Given the description of an element on the screen output the (x, y) to click on. 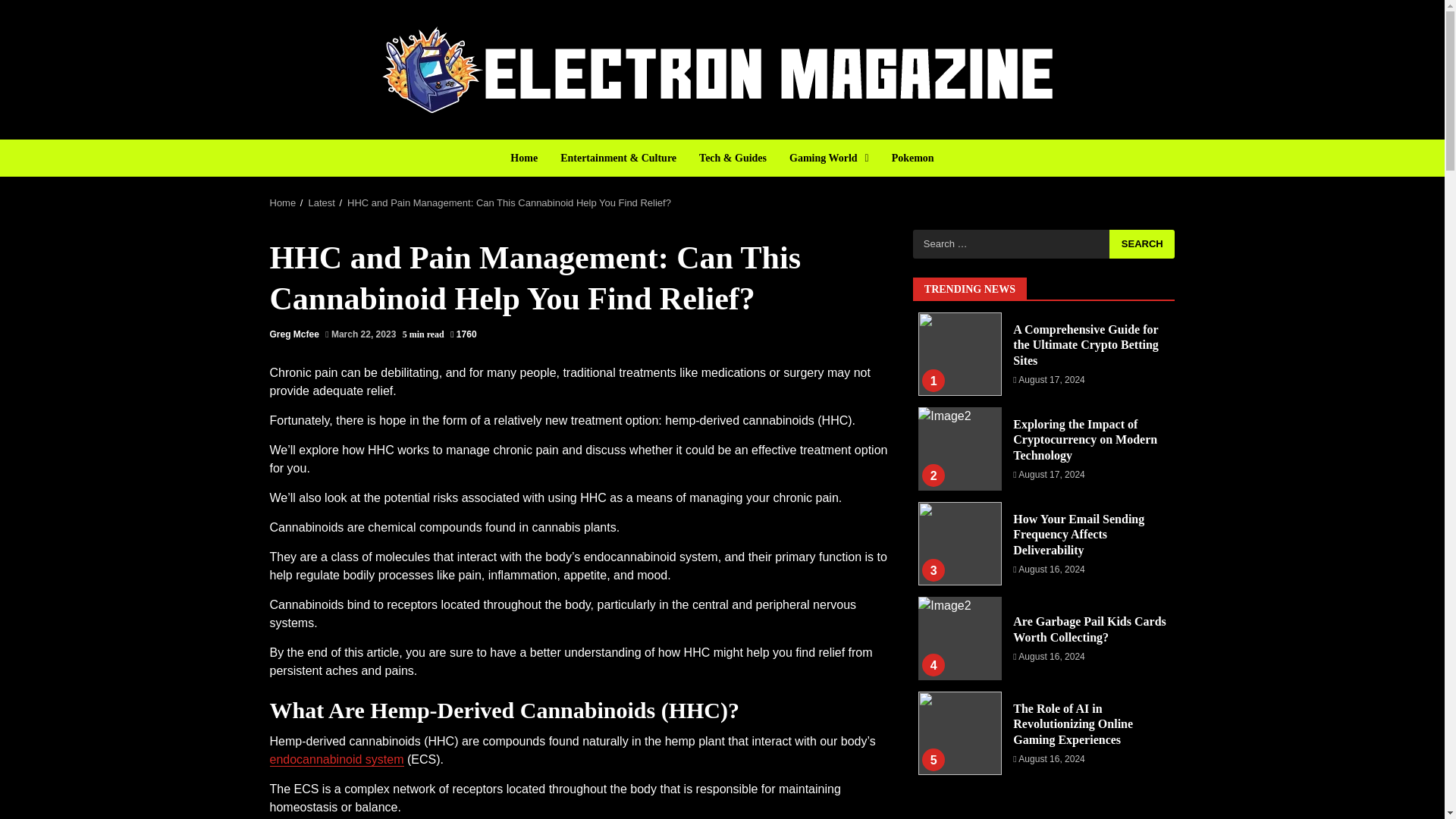
Greg Mcfee (293, 334)
Home (529, 157)
1760 (462, 334)
Gaming World (828, 157)
Pokemon (907, 157)
Latest (320, 202)
Home (283, 202)
Search (1141, 243)
Search (1141, 243)
